Given the description of an element on the screen output the (x, y) to click on. 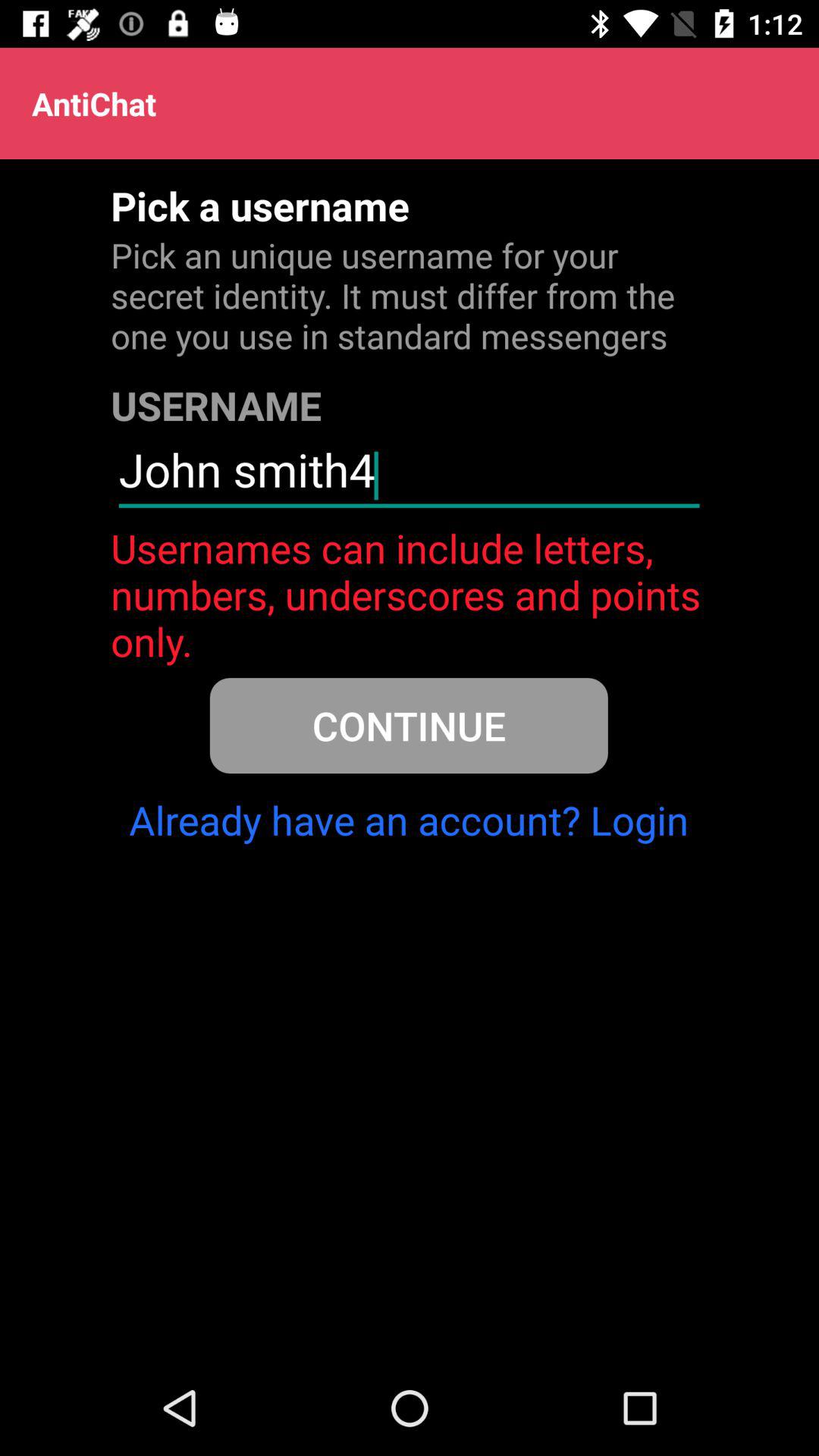
jump to continue icon (408, 725)
